Given the description of an element on the screen output the (x, y) to click on. 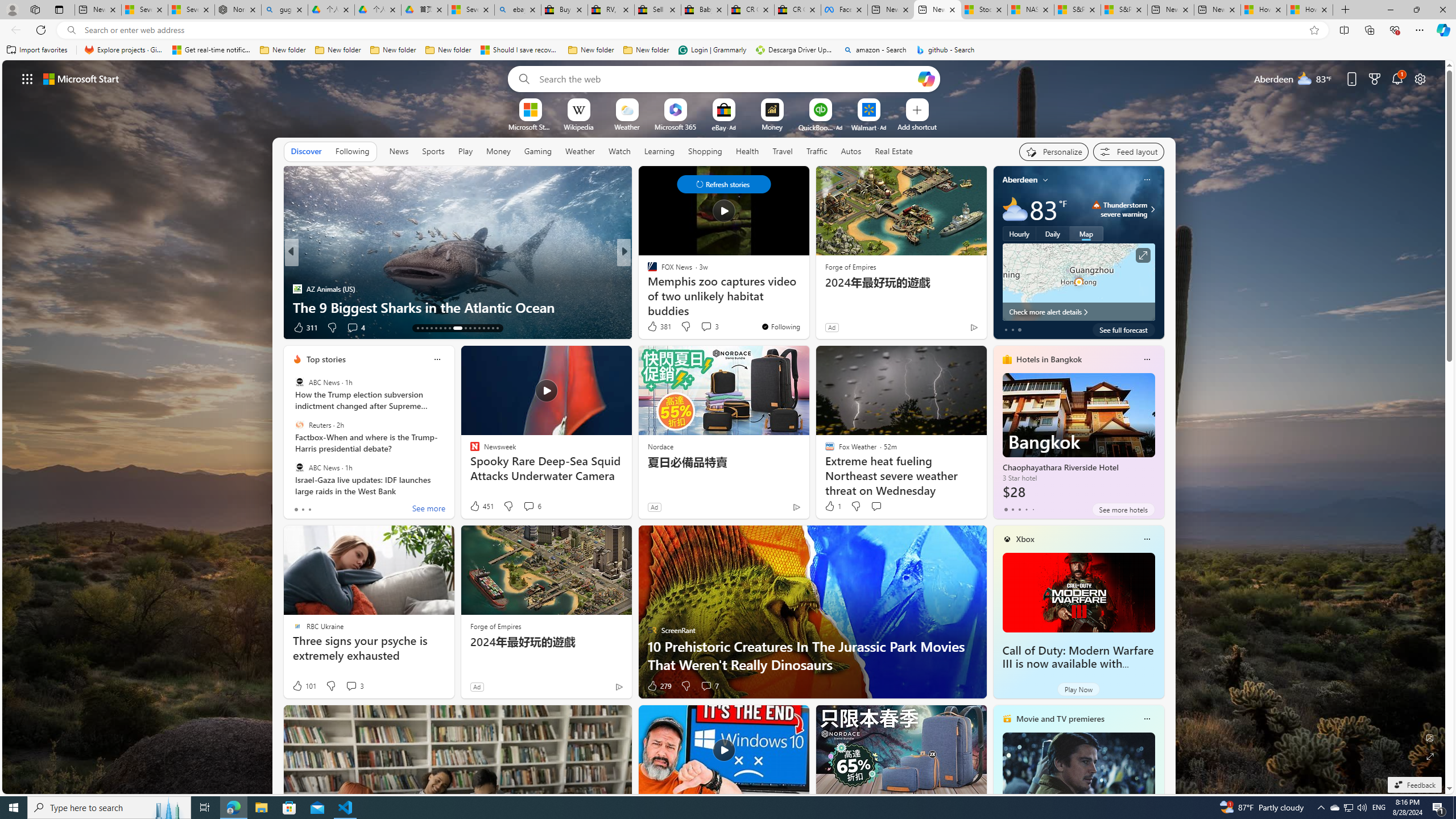
guge yunpan - Search (284, 9)
Real Estate (893, 151)
Nordace (659, 446)
Thunderstorm - Severe (1097, 204)
Buy Auto Parts & Accessories | eBay (563, 9)
View comments 74 Comment (6, 327)
AutomationID: tab-25 (478, 328)
How to Use a Monitor With Your Closed Laptop (807, 307)
Refresh (40, 29)
Click to see more information (1142, 255)
Should I save recovered Word documents? - Microsoft Support (519, 49)
Weather (580, 151)
AutomationID: tab-14 (422, 328)
